Given the description of an element on the screen output the (x, y) to click on. 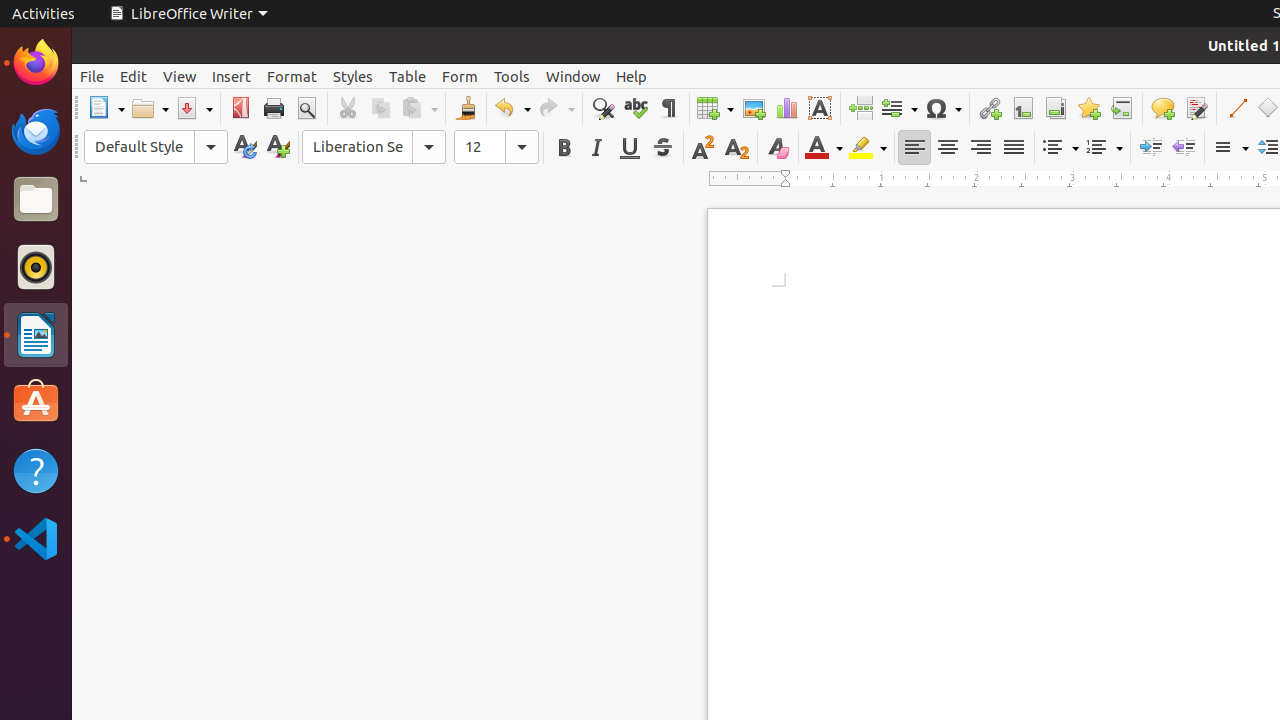
Center Element type: toggle-button (947, 147)
Window Element type: menu (573, 76)
Superscript Element type: toggle-button (703, 147)
Rhythmbox Element type: push-button (36, 267)
Bold Element type: toggle-button (563, 147)
